Given the description of an element on the screen output the (x, y) to click on. 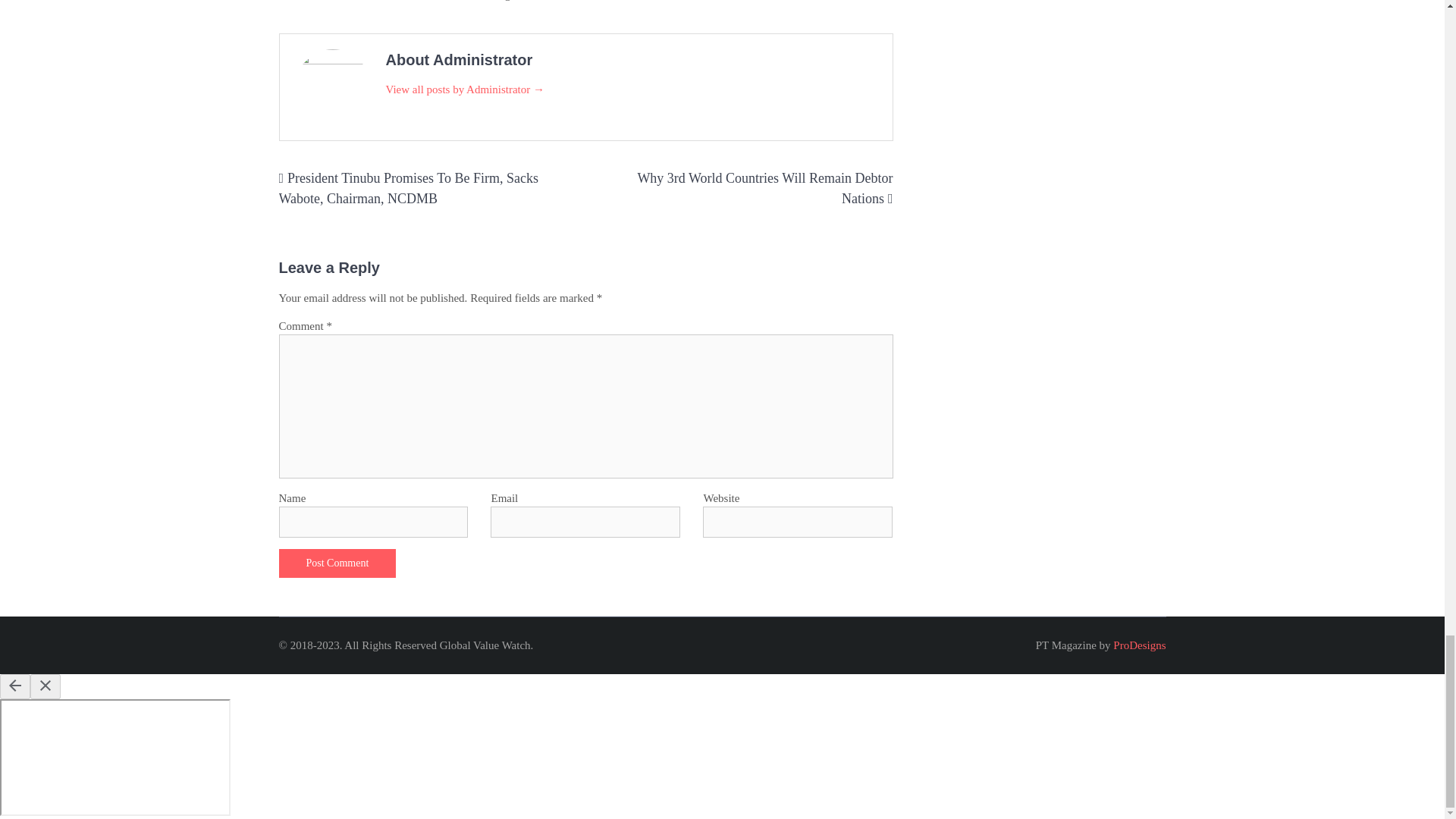
Post Comment (337, 563)
Why 3rd World Countries Will Remain Debtor Nations (764, 188)
Post Comment (337, 563)
